Given the description of an element on the screen output the (x, y) to click on. 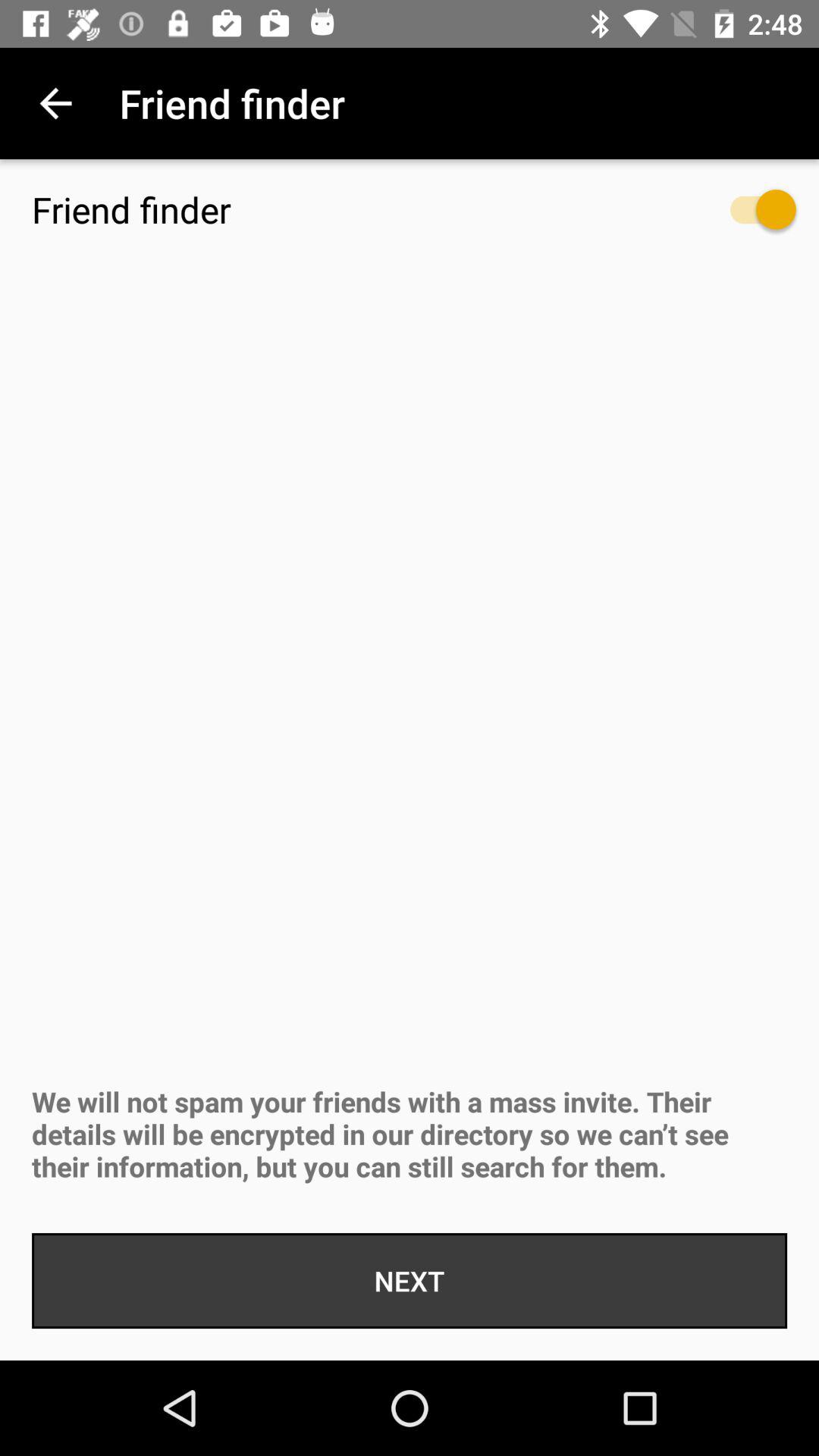
press icon to the left of the friend finder icon (55, 103)
